Given the description of an element on the screen output the (x, y) to click on. 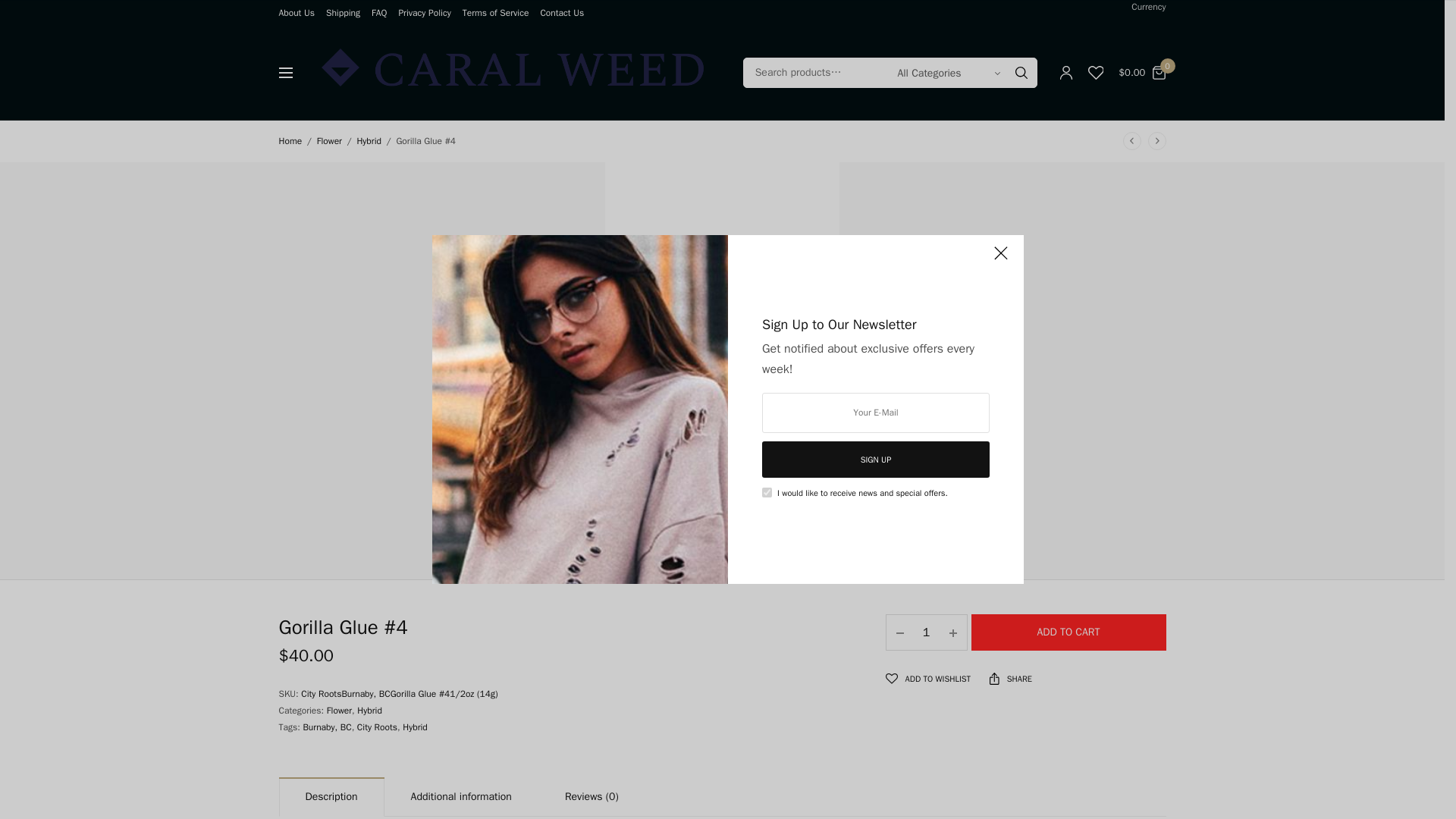
Additional information (461, 797)
Hybrid (415, 727)
City Roots (376, 727)
ADD TO CART (1068, 632)
Terms of Service (496, 12)
SIGN UP (875, 459)
Hybrid (368, 710)
SHARE (1011, 678)
Shipping (342, 12)
Contact Us (561, 12)
About Us (296, 12)
ADD TO WISHLIST (928, 678)
Hybrid (368, 141)
Burnaby, BC (326, 727)
Home (290, 141)
